Given the description of an element on the screen output the (x, y) to click on. 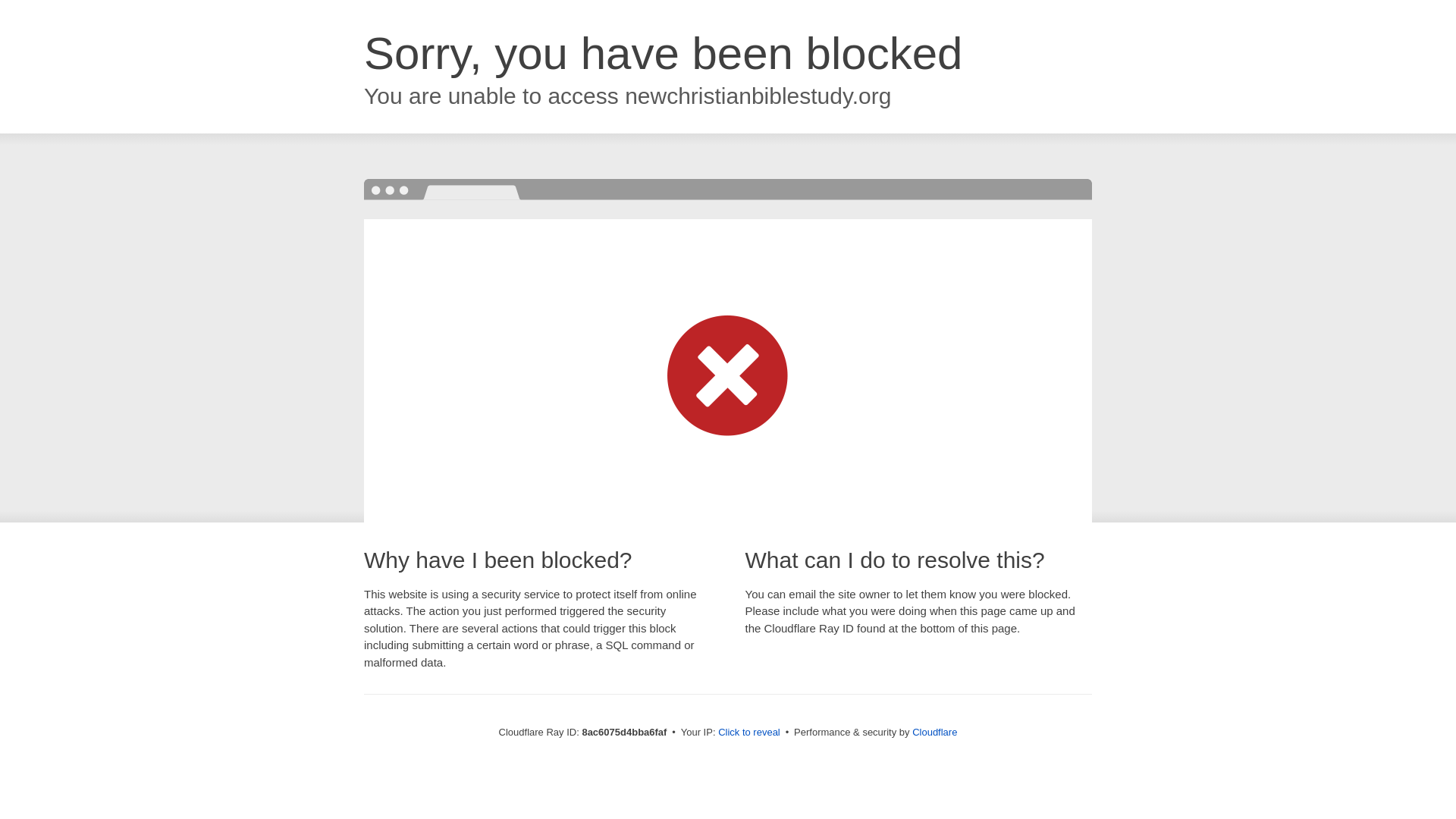
Click to reveal (748, 732)
Cloudflare (934, 731)
